Given the description of an element on the screen output the (x, y) to click on. 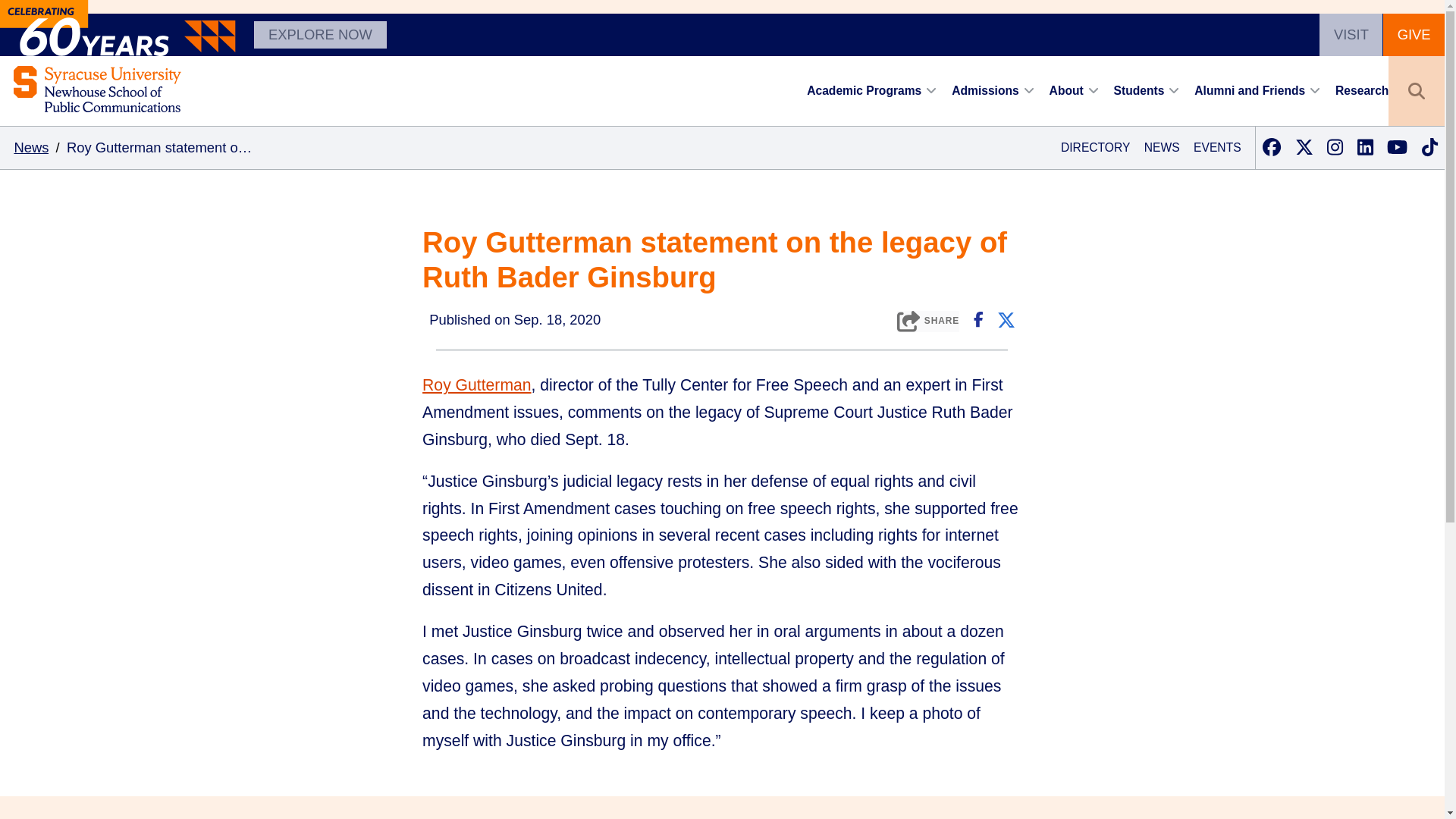
Roy Gutterman statement on the legacy of Ruth Bader Ginsburg (161, 147)
DIRECTORY (1095, 147)
Alumni and Friends (1248, 91)
Admissions (985, 91)
Academic Programs (927, 321)
VISIT (863, 91)
News (1350, 34)
Roy Gutterman (31, 147)
